Given the description of an element on the screen output the (x, y) to click on. 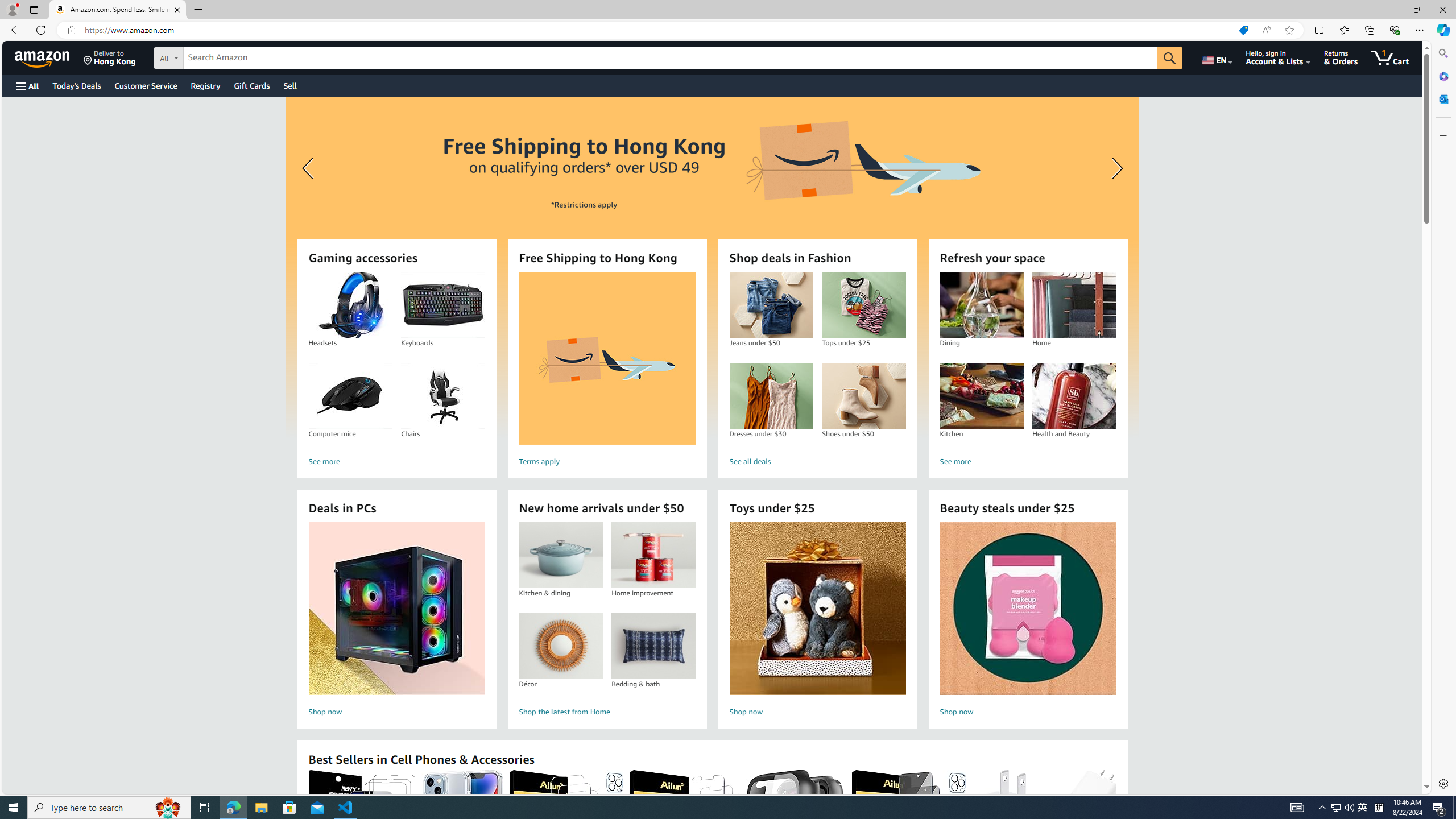
Free Shipping to Hong Kong Terms apply (606, 370)
Amazon (43, 57)
Search Amazon (670, 57)
